Given the description of an element on the screen output the (x, y) to click on. 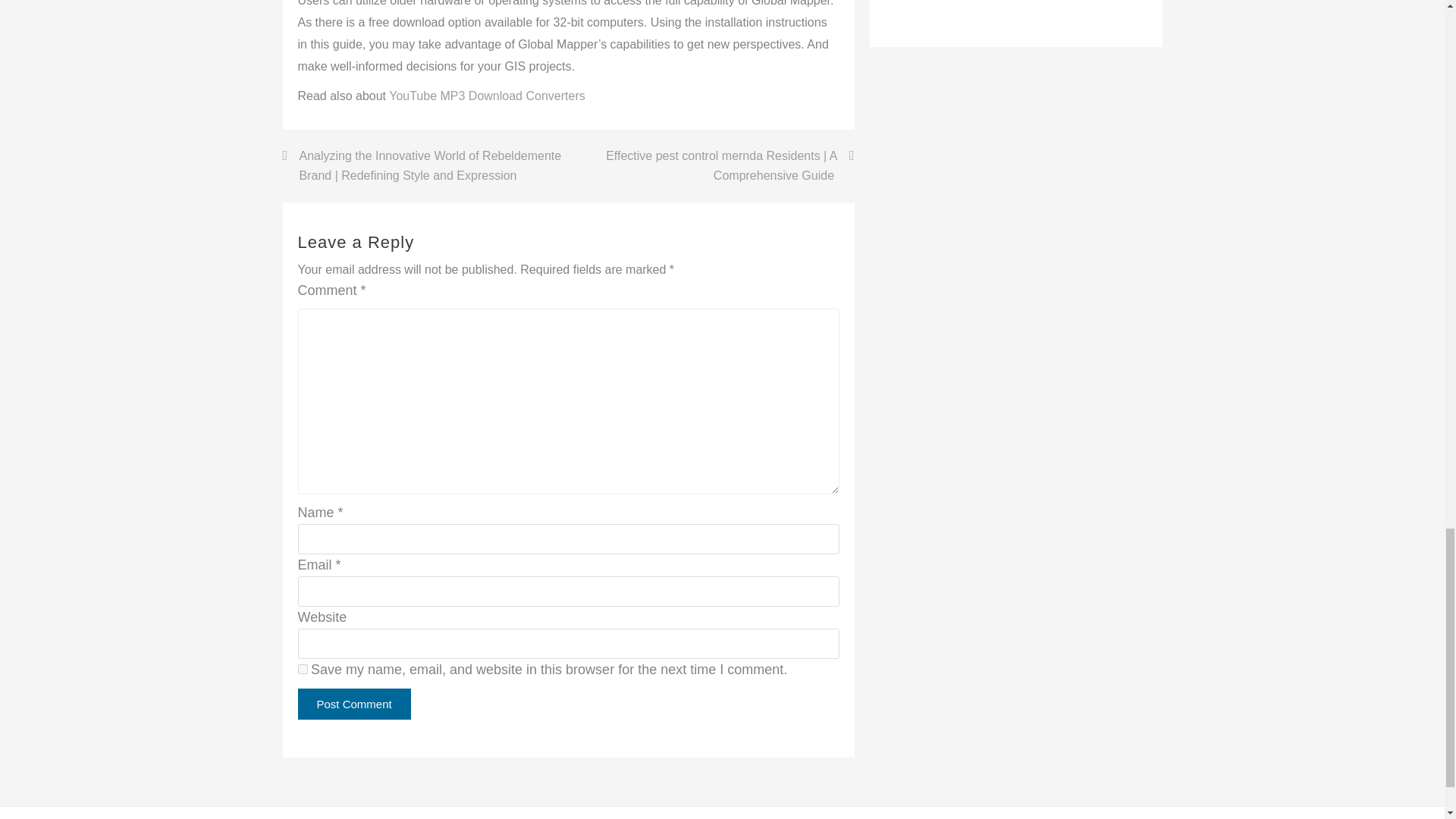
YouTube MP3 Download Converters (486, 95)
yes (302, 669)
Advertisement (944, 11)
Post Comment (353, 703)
Post Comment (353, 703)
